Given the description of an element on the screen output the (x, y) to click on. 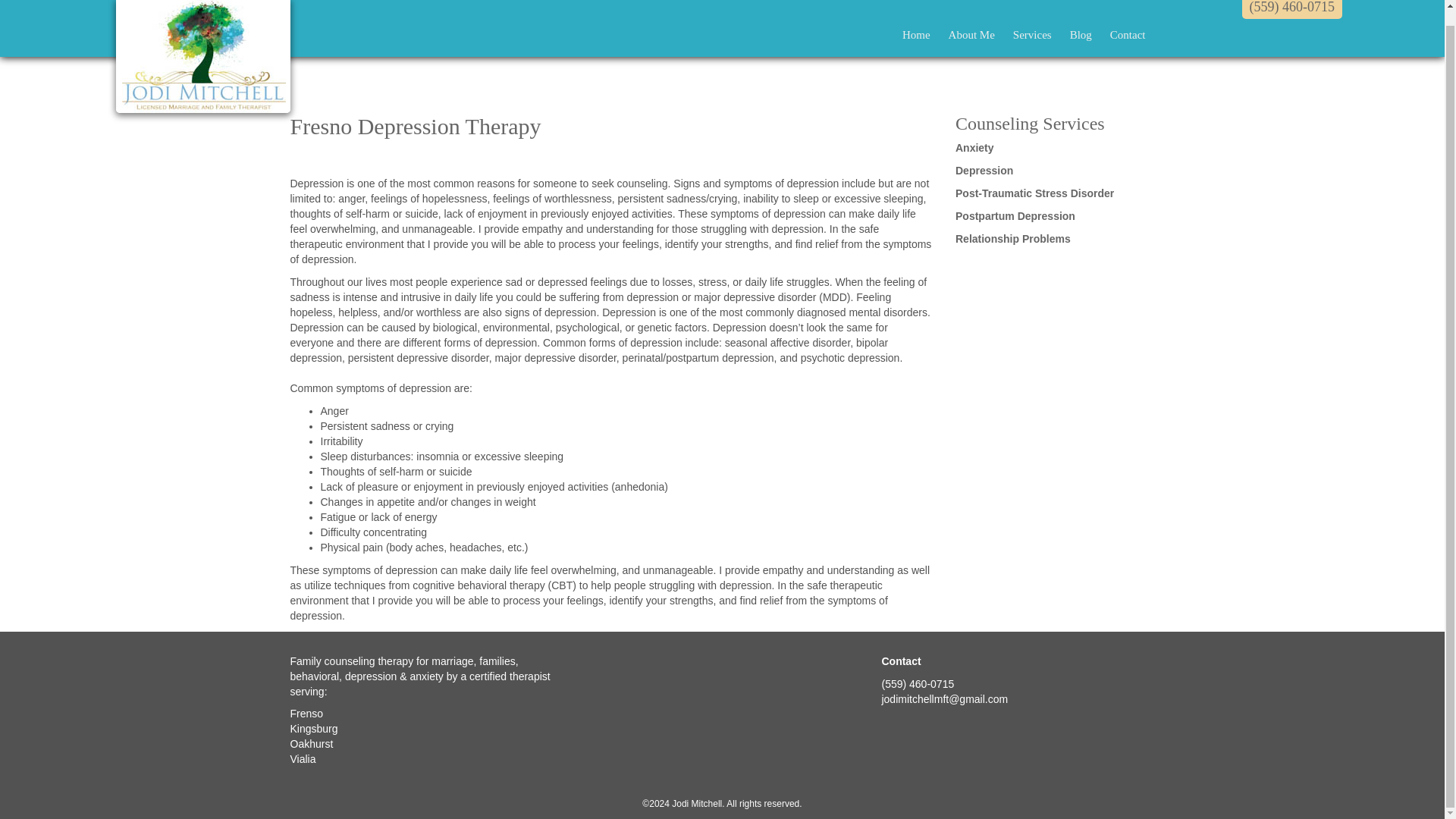
Services (1032, 19)
Home (916, 19)
Blog (1080, 19)
Anxiety (974, 147)
About Me (971, 19)
Contact (1127, 19)
